Given the description of an element on the screen output the (x, y) to click on. 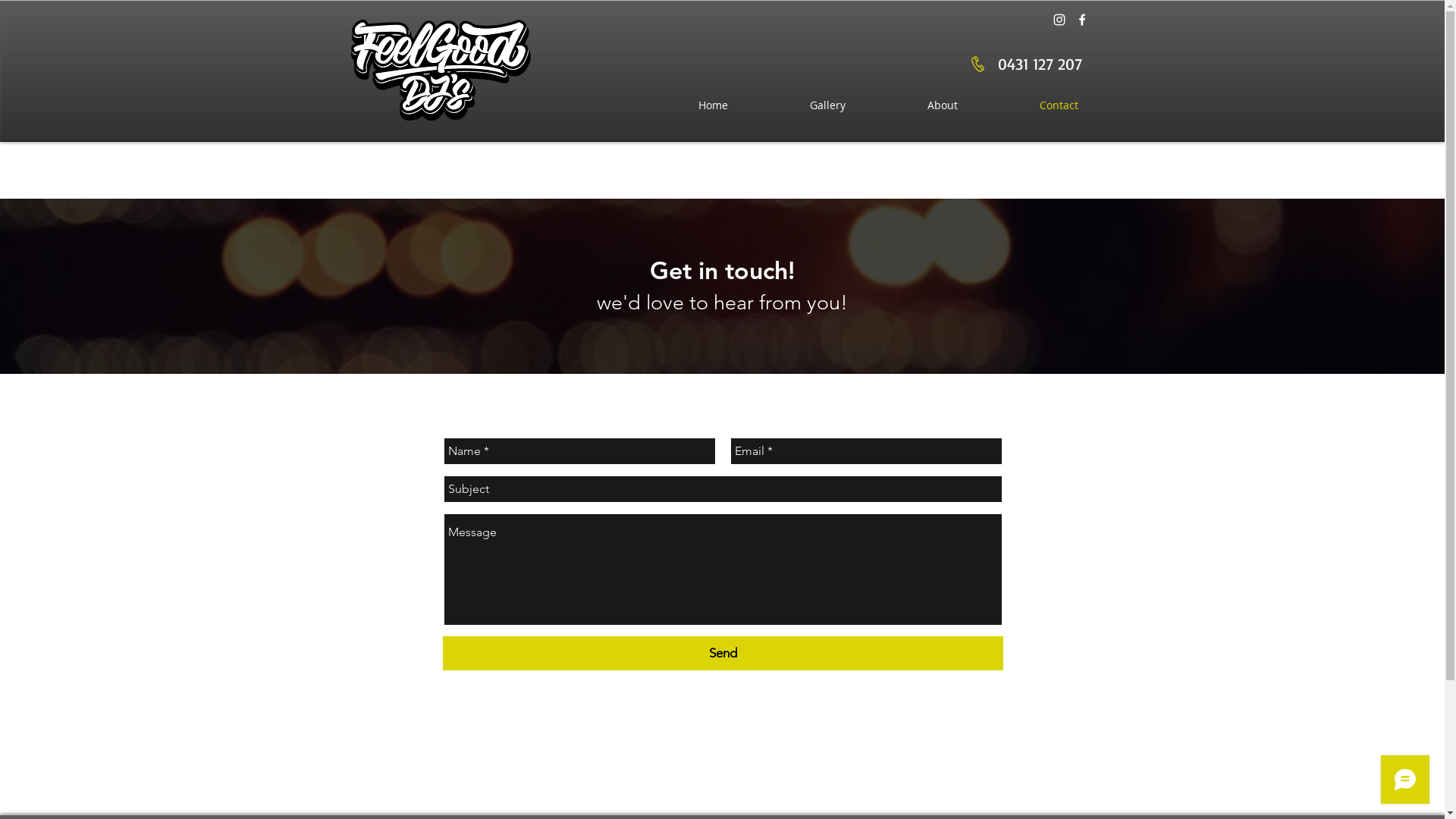
Contact Element type: text (1057, 104)
Gallery Element type: text (827, 104)
Home Element type: text (712, 104)
About Element type: text (941, 104)
Send Element type: text (722, 653)
